Given the description of an element on the screen output the (x, y) to click on. 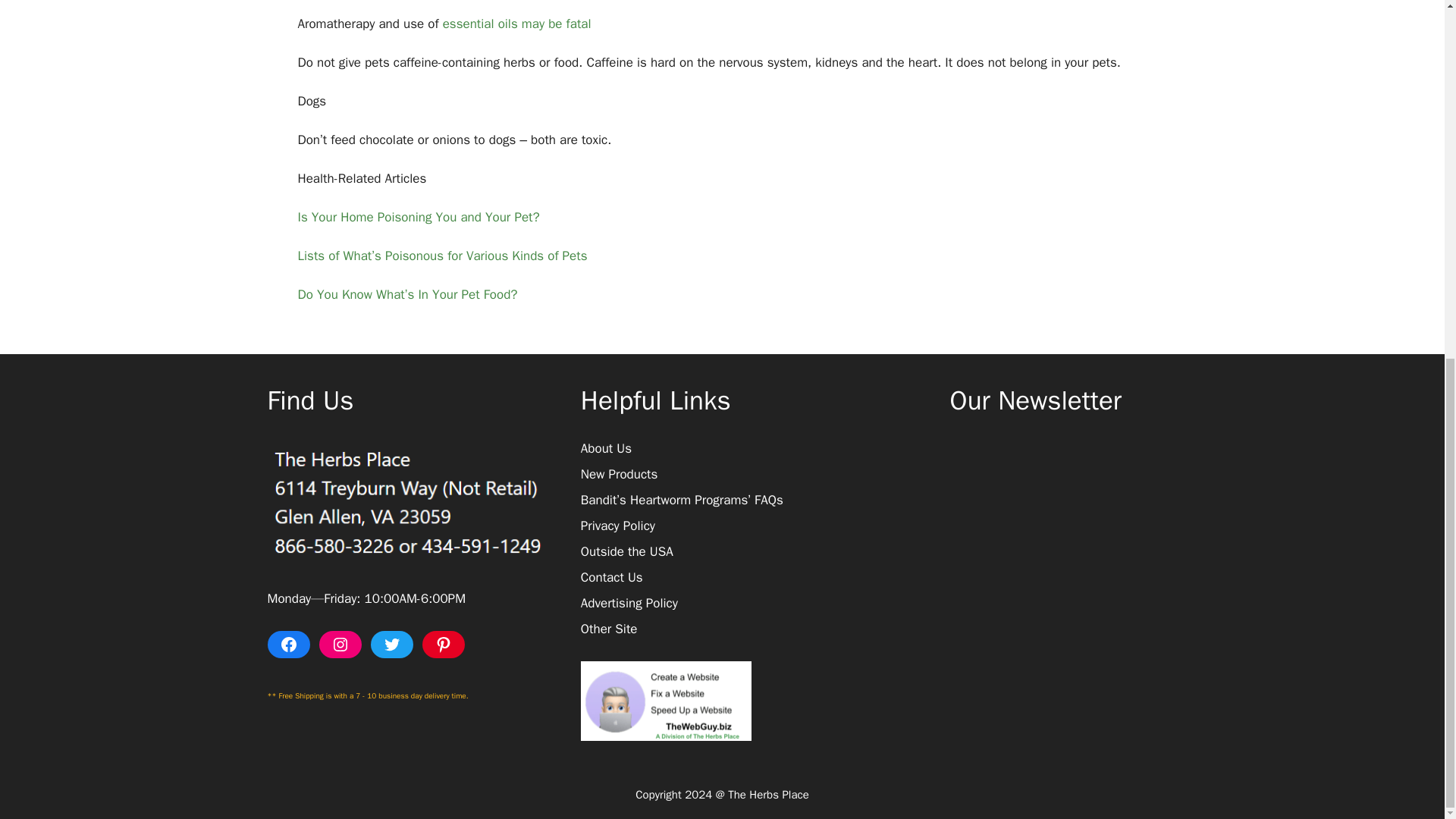
find-us (408, 502)
